Given the description of an element on the screen output the (x, y) to click on. 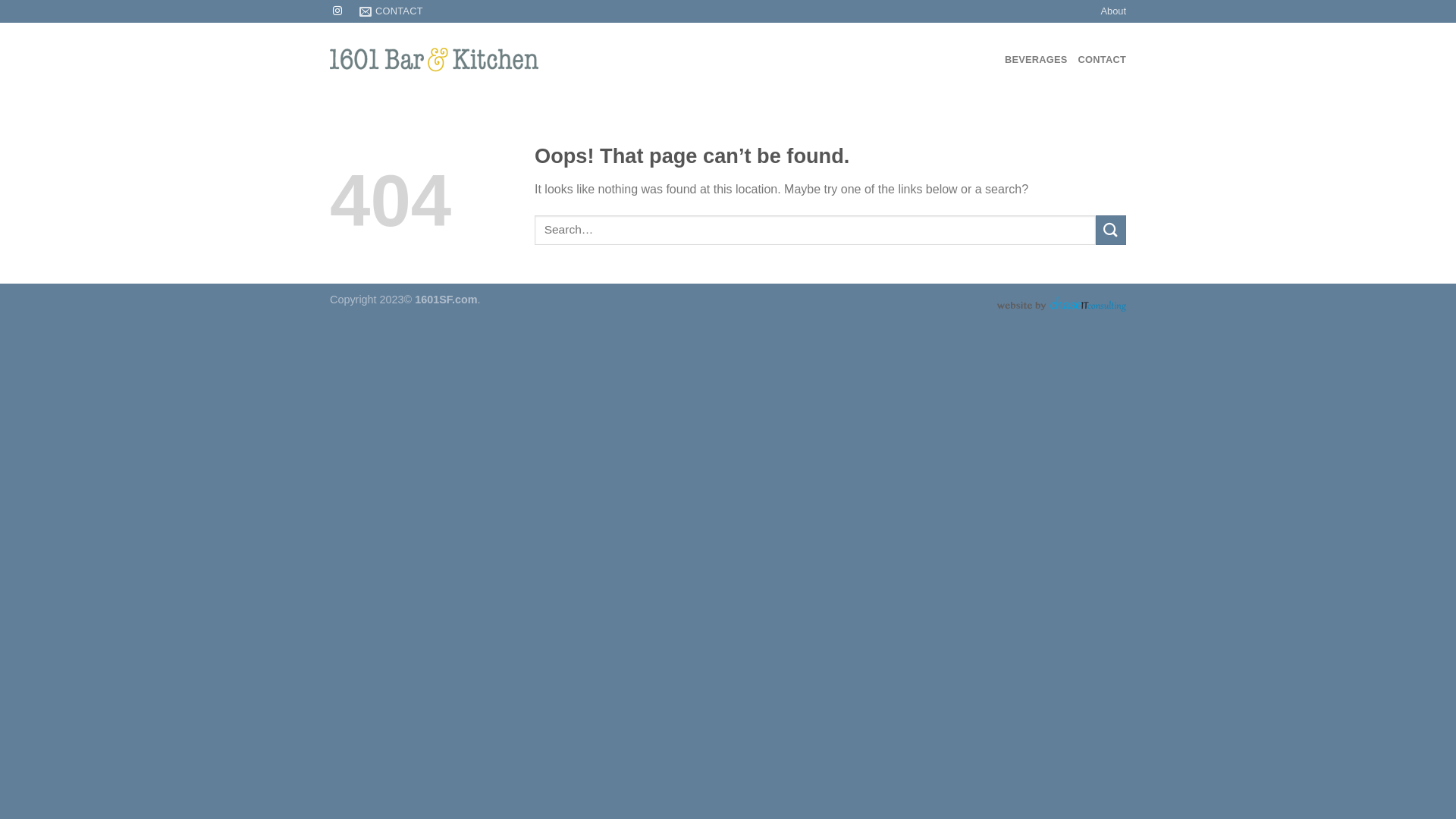
BEVERAGES Element type: text (1035, 59)
About Element type: text (1113, 11)
CONTACT Element type: text (1102, 59)
CONTACT Element type: text (391, 11)
1601 Bar & Kitchen - Contemporary Sri Lankan Cuisine Element type: hover (453, 59)
Follow on Instagram Element type: hover (337, 11)
